Given the description of an element on the screen output the (x, y) to click on. 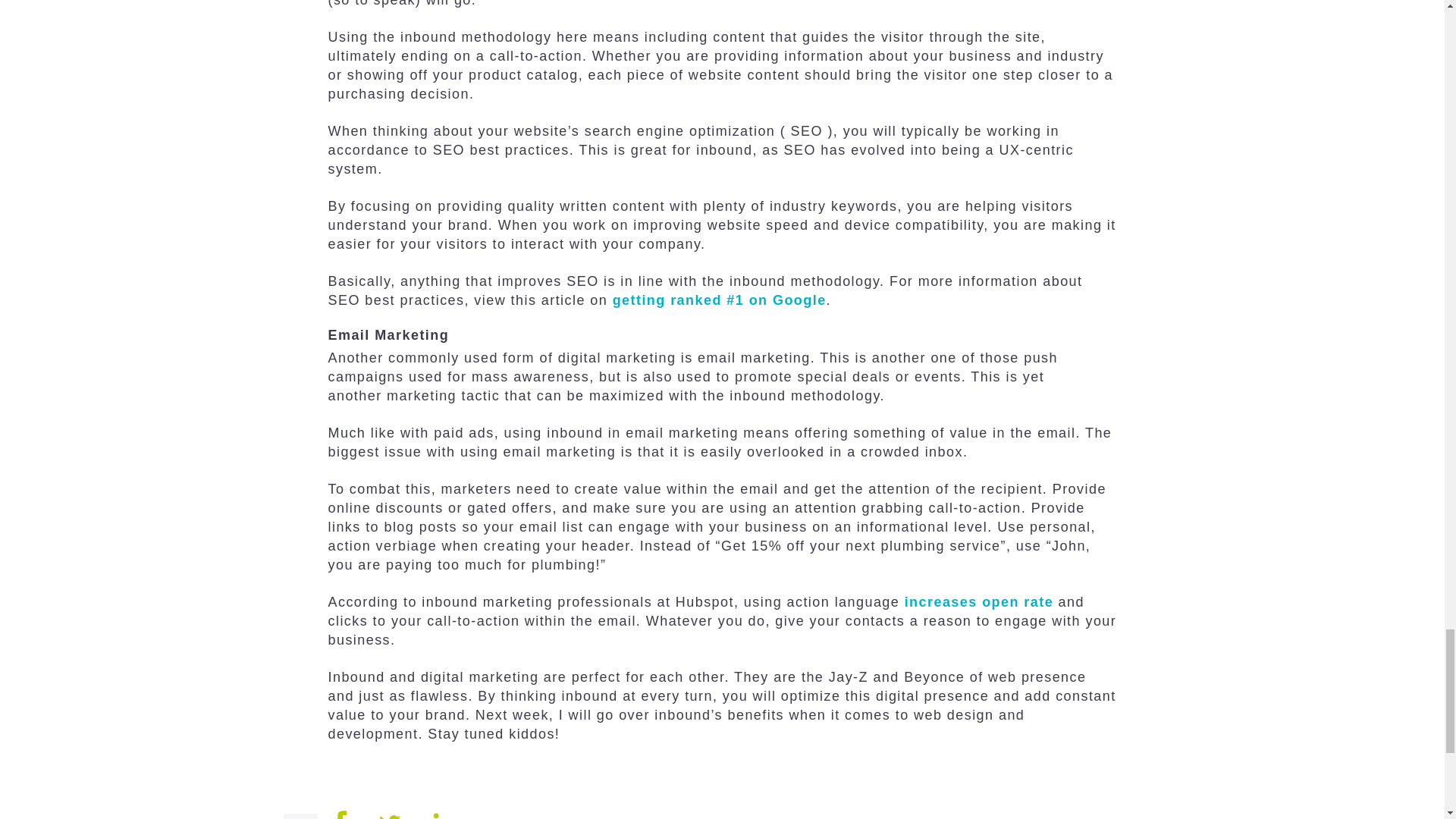
Share on Facebook (340, 816)
Share on Facebook (340, 816)
increases open rate (978, 601)
Share on Linkedin (443, 816)
Share on Twitter (389, 816)
Share on Linkedin (443, 816)
Share on LinkedIn (443, 816)
Share on Twitter (389, 816)
Share on Facebook (340, 814)
Share on Twitter (389, 816)
